Given the description of an element on the screen output the (x, y) to click on. 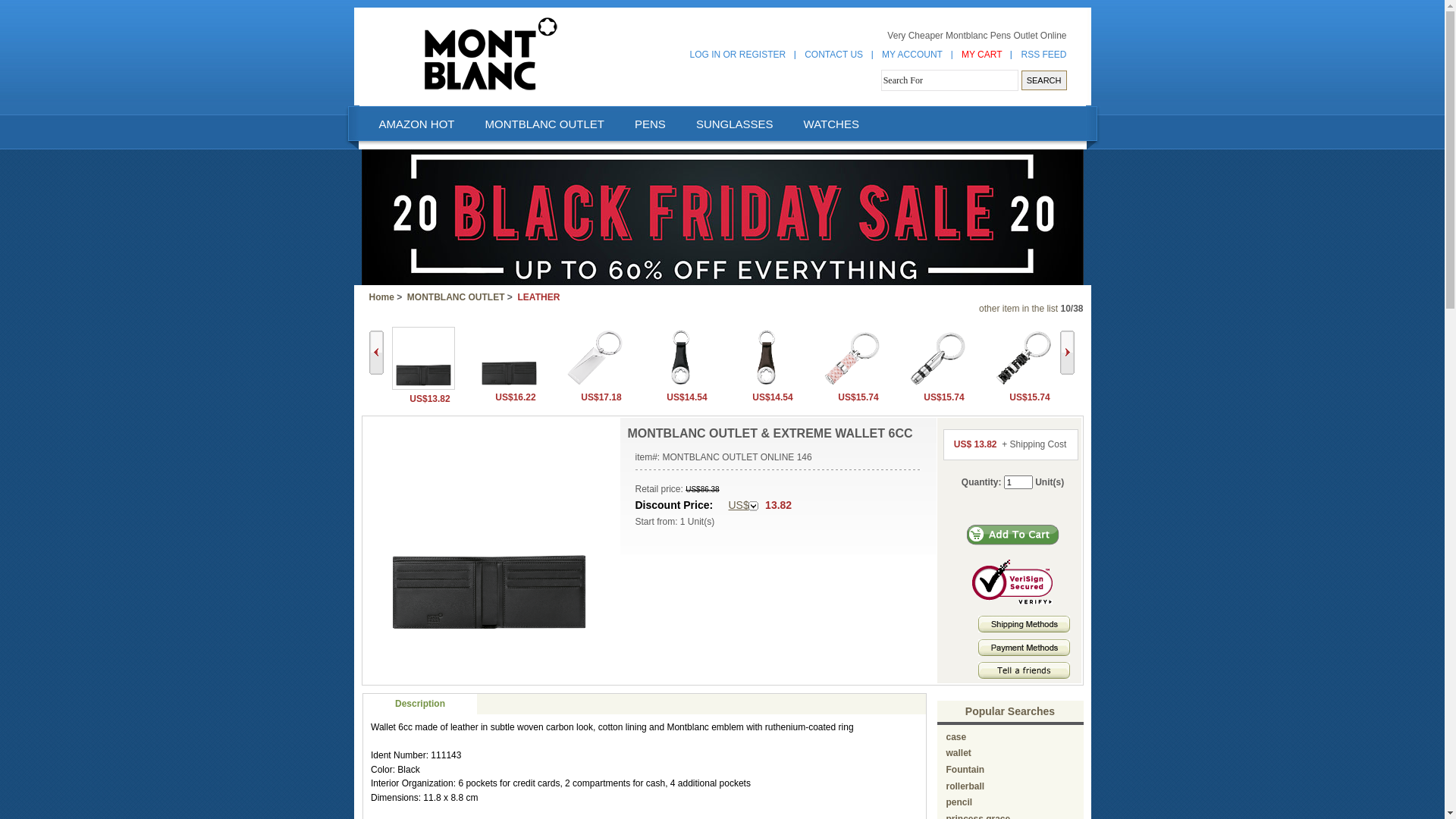
PENS Element type: text (649, 123)
AMAZON HOT Element type: text (415, 123)
MONTBLANC OUTLET & EXTREME WALLET 8CC Element type: hover (508, 384)
MONTBLANC OUTLET & KEY RING Element type: hover (766, 357)
MONTBLANC OUTLET & KEY RING Element type: hover (1022, 357)
RSS FEED Element type: text (1043, 54)
MY CART Element type: text (981, 54)
rollerball Element type: text (965, 786)
MONTBLANC OUTLET & KEY RING Element type: hover (850, 384)
Back Element type: hover (375, 352)
MONTBLANC OUTLET & KEY RING Element type: hover (679, 384)
MONTBLANC OUTLET & KEY RING Element type: hover (766, 384)
 Tell A Friends  Element type: hover (1024, 670)
US$ Element type: text (742, 505)
Shipping Methods Element type: hover (1024, 629)
MY ACCOUNT Element type: text (911, 54)
pencil Element type: text (959, 802)
SUNGLASSES Element type: text (734, 123)
case Element type: text (956, 736)
Next Element type: hover (1067, 352)
Home Element type: text (380, 296)
Add to Cart Element type: hover (1012, 534)
MONTBLANC OUTLET & KEY RING Element type: hover (937, 357)
WATCHES Element type: text (830, 123)
MONTBLANC OUTLET Element type: text (544, 123)
LEATHER Element type: text (538, 296)
other item in the list Element type: text (1018, 308)
MONTBLANC OUTLET & KEY RING Element type: hover (850, 357)
Fountain Element type: text (965, 769)
CONTACT US Element type: text (833, 54)
SEARCH Element type: text (1043, 80)
wallet Element type: text (958, 752)
 MONTBLANC OUTLET & EXTREME WALLET 6CC  Element type: hover (489, 532)
black friday montblanc Element type: hover (721, 281)
Payment methods Element type: hover (1024, 652)
MONTBLANC OUTLET & EXTREME WALLET 6CC Element type: hover (422, 357)
LOG IN OR REGISTER Element type: text (738, 54)
MONTBLANC OUTLET & KEY RING Element type: hover (1022, 384)
MONTBLANC OUTLET & KEY RING Element type: hover (679, 357)
MONTBLANC OUTLET & KEY RING Element type: hover (937, 384)
MONTBLANC OUTLET & EXTREME WALLET 8CC Element type: hover (508, 357)
 Payment Methods  Element type: hover (1024, 647)
MONTBLANC OUTLET & EXTREME WALLET 6CC Element type: hover (422, 386)
MONTBLANC OUTLET & KEY RING Element type: hover (594, 357)
MONTBLANC OUTLET Element type: text (456, 296)
MONTBLANC OUTLET & KEY RING Element type: hover (594, 384)
Popular Searches Element type: text (1009, 711)
 Shipping Methods  Element type: hover (1024, 623)
 Montblanc Outlet Store  Element type: hover (490, 53)
